Given the description of an element on the screen output the (x, y) to click on. 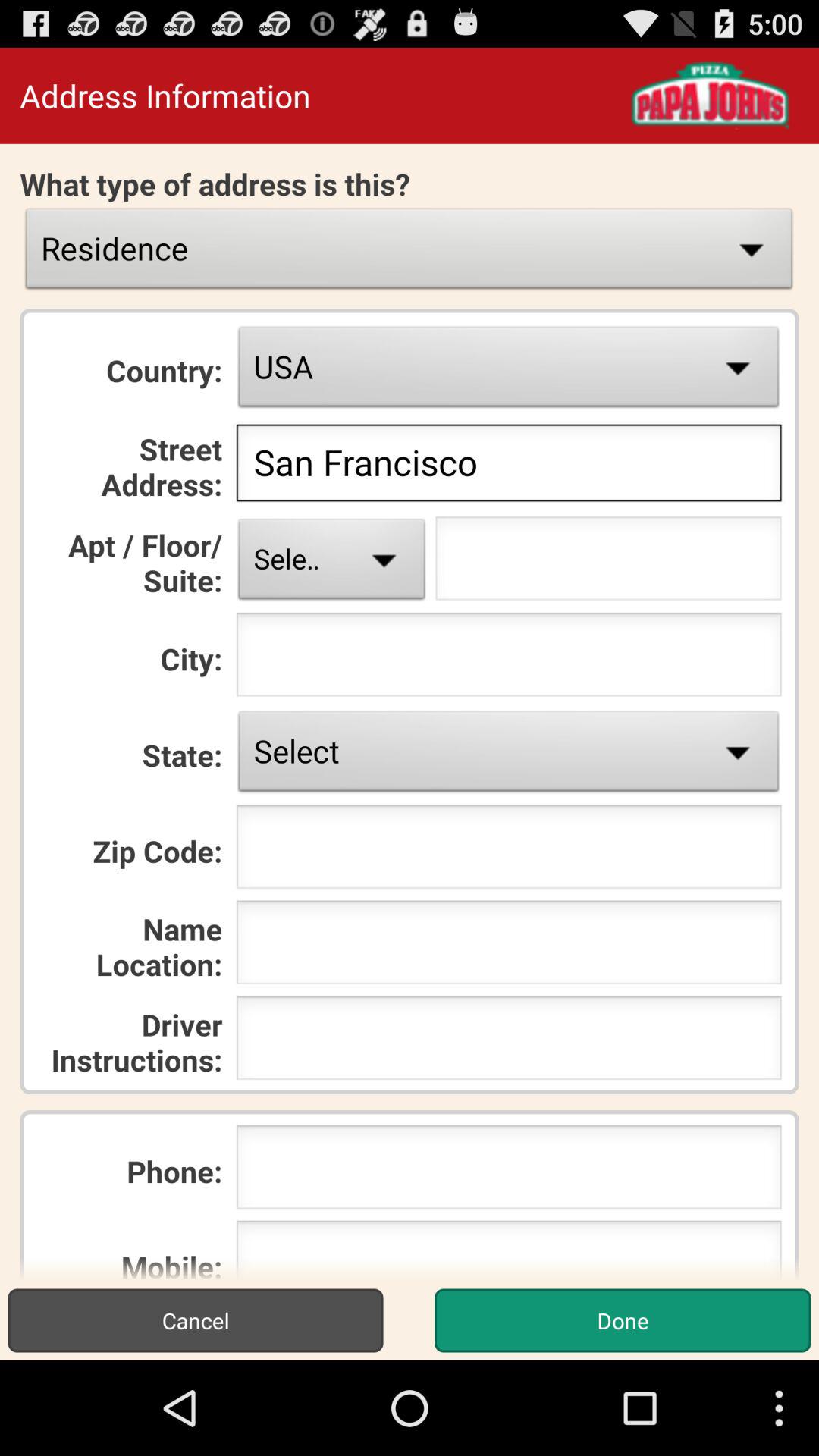
box to type driver instructions (508, 1042)
